Given the description of an element on the screen output the (x, y) to click on. 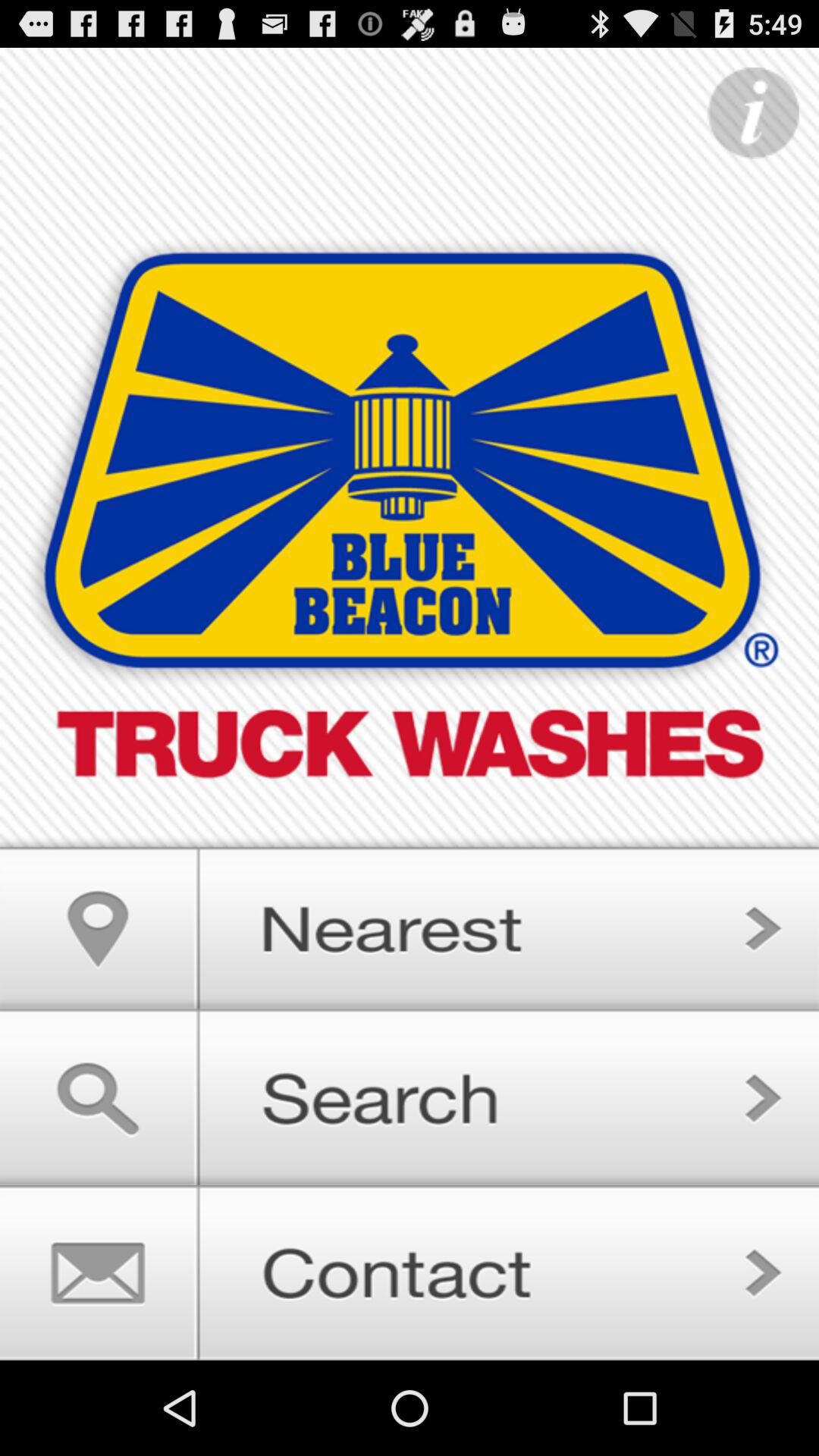
more closer (409, 922)
